Given the description of an element on the screen output the (x, y) to click on. 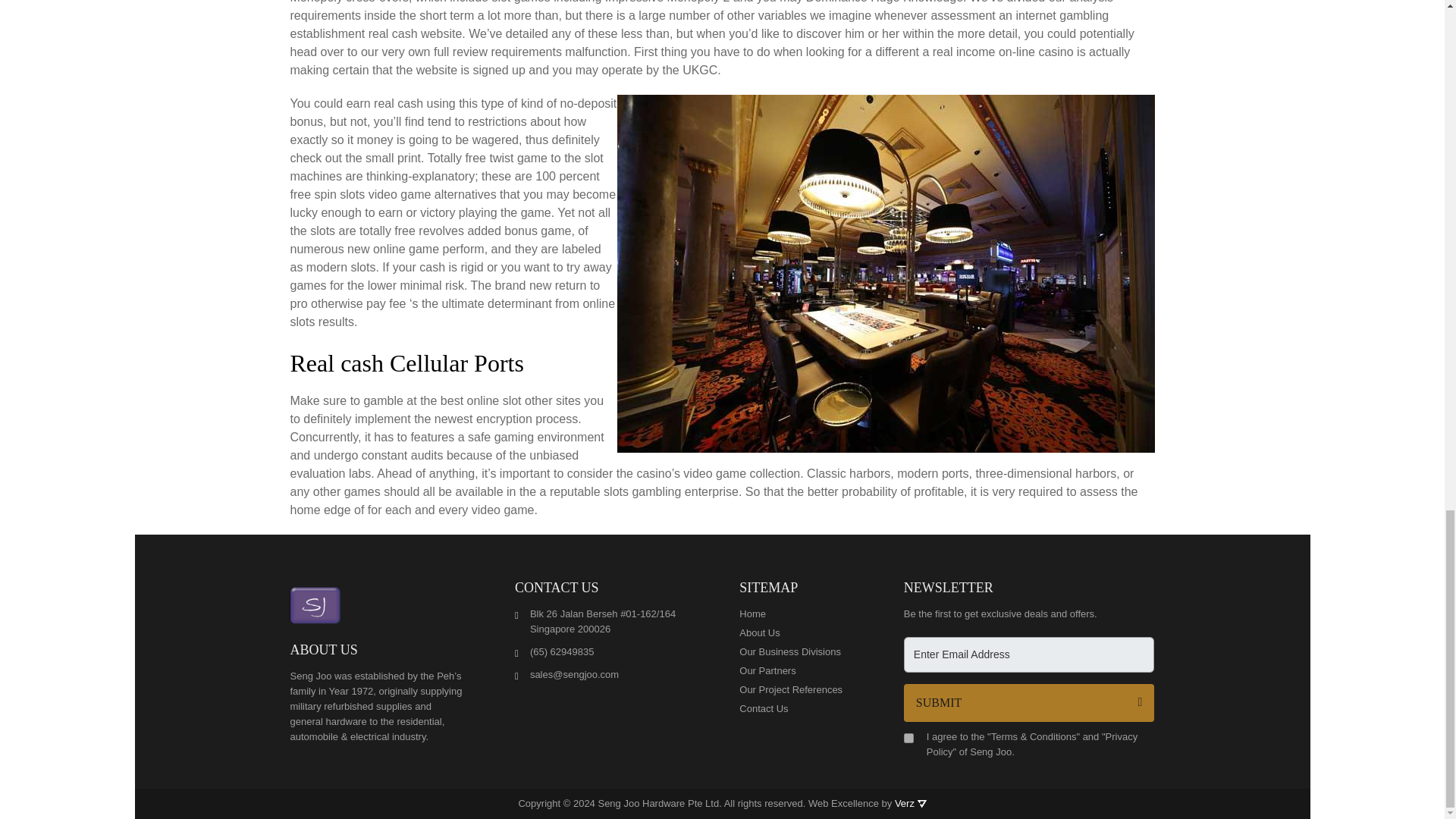
Our Business Divisions (795, 652)
Home (795, 613)
Verz Design (921, 803)
SUBMIT (1029, 702)
Web Excellence by Verz (867, 803)
Contact Us (795, 708)
1 (909, 737)
About Us (795, 632)
Our Partners (795, 670)
Our Project References (795, 689)
